Given the description of an element on the screen output the (x, y) to click on. 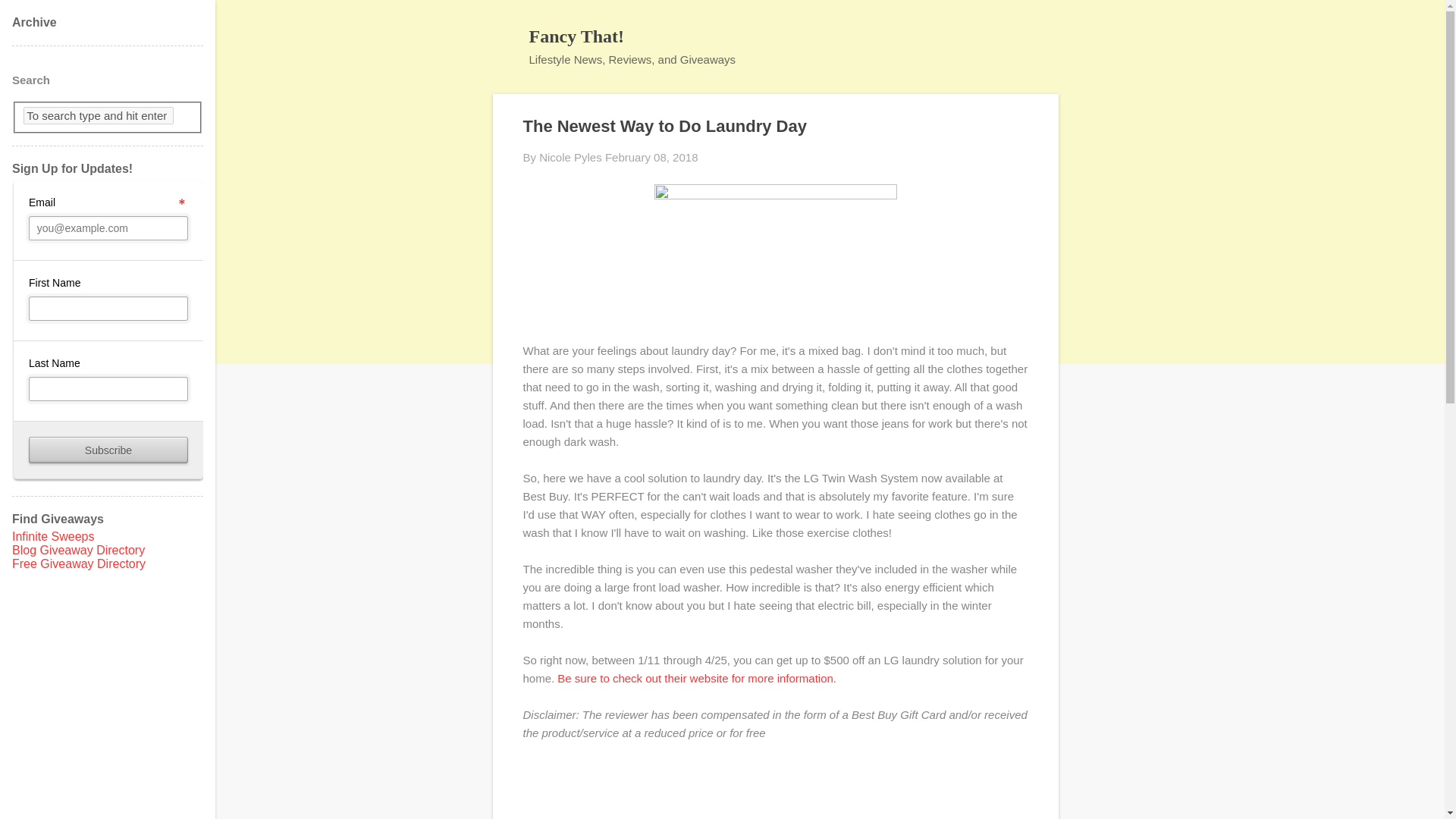
To search type and hit enter (98, 115)
February 08, 2018 (651, 156)
Be sure to check out their website for more information.  (698, 677)
Fancy That! (576, 35)
Search (29, 18)
permanent link (651, 156)
